Given the description of an element on the screen output the (x, y) to click on. 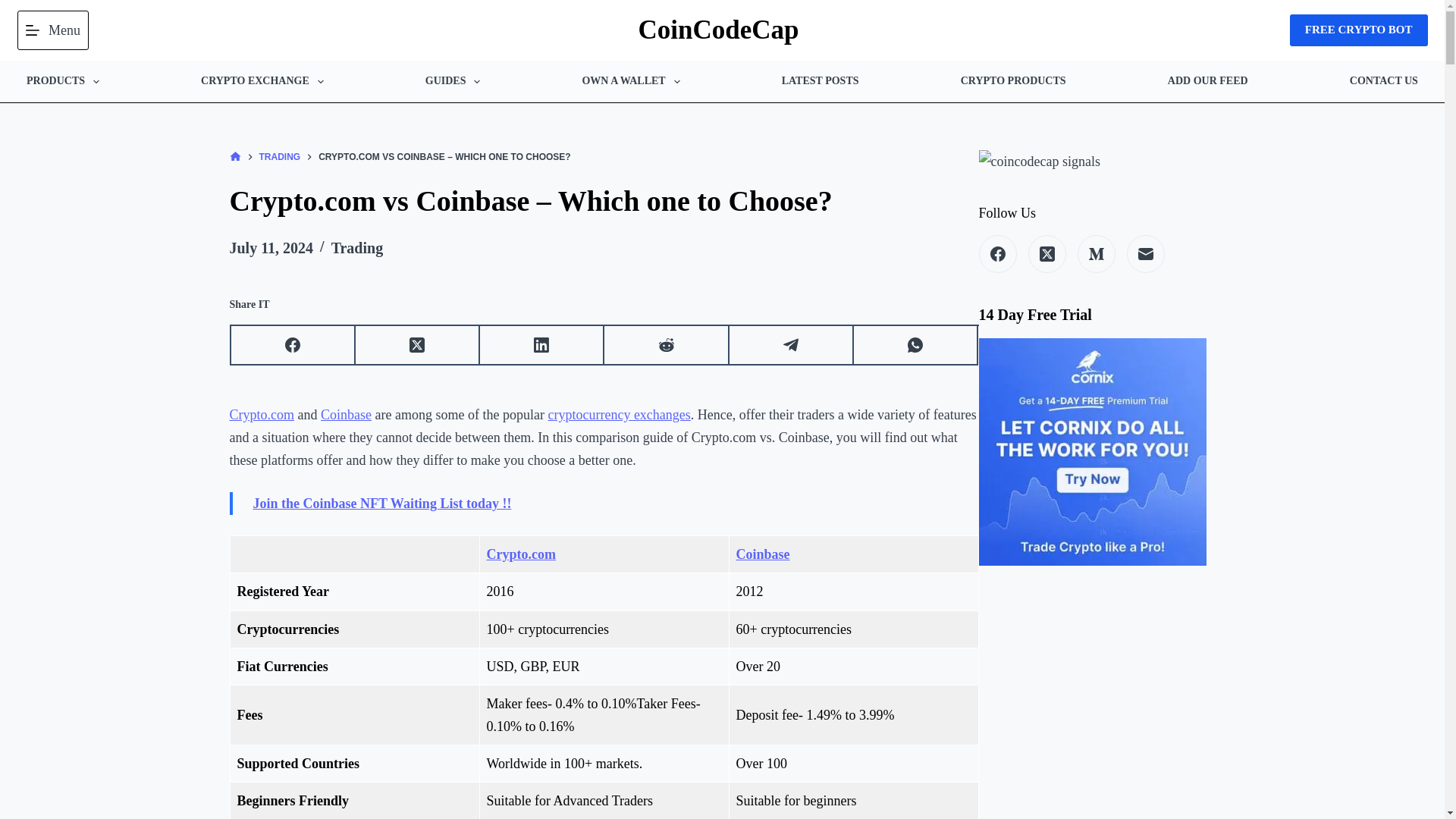
Skip to content (15, 7)
